Given the description of an element on the screen output the (x, y) to click on. 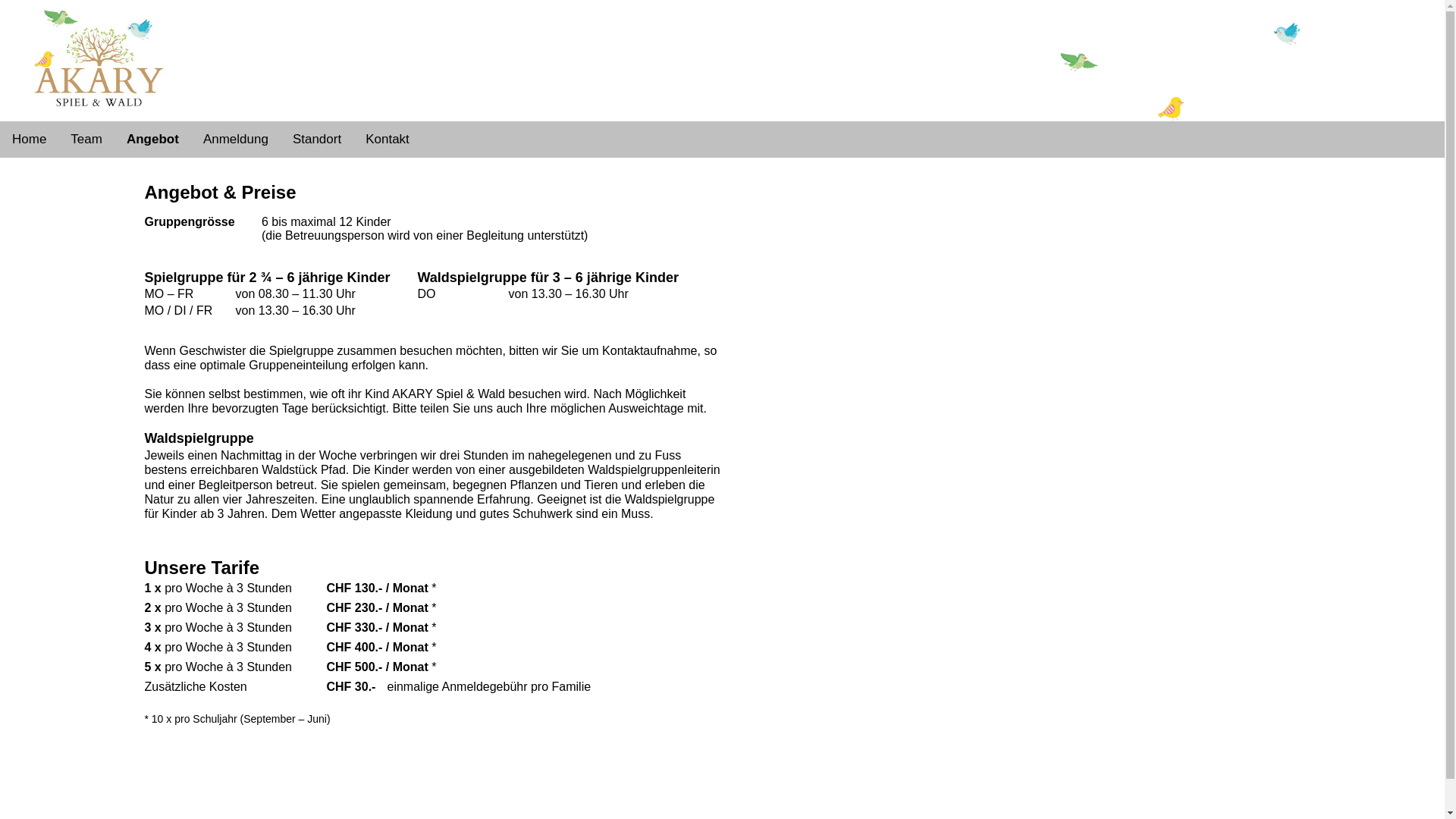
Anmeldung Element type: text (235, 139)
Angebot Element type: text (152, 139)
Standort Element type: text (316, 139)
Kontakt Element type: text (387, 139)
Team Element type: text (86, 139)
Home Element type: text (29, 139)
